Given the description of an element on the screen output the (x, y) to click on. 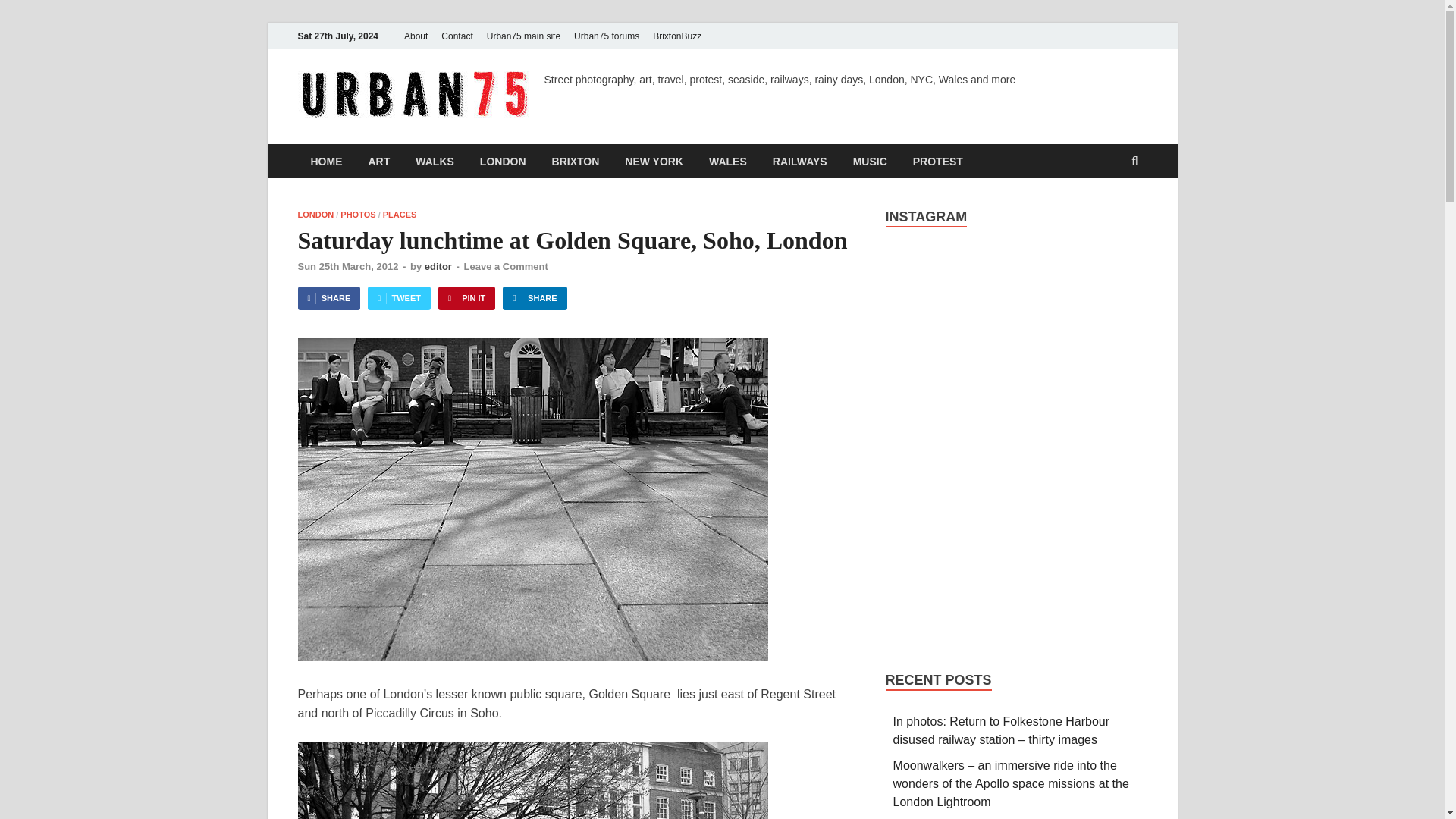
lunchtime-at-golden-square-2 (532, 780)
LONDON (315, 214)
Brixton listings website (676, 35)
BRIXTON (575, 161)
PLACES (399, 214)
Sun 25th March, 2012 (347, 266)
Urban75 main site (523, 35)
SHARE (328, 298)
MUSIC (869, 161)
WALKS (435, 161)
PIN IT (466, 298)
LONDON (502, 161)
RAILWAYS (800, 161)
Urban75 forums (606, 35)
